Given the description of an element on the screen output the (x, y) to click on. 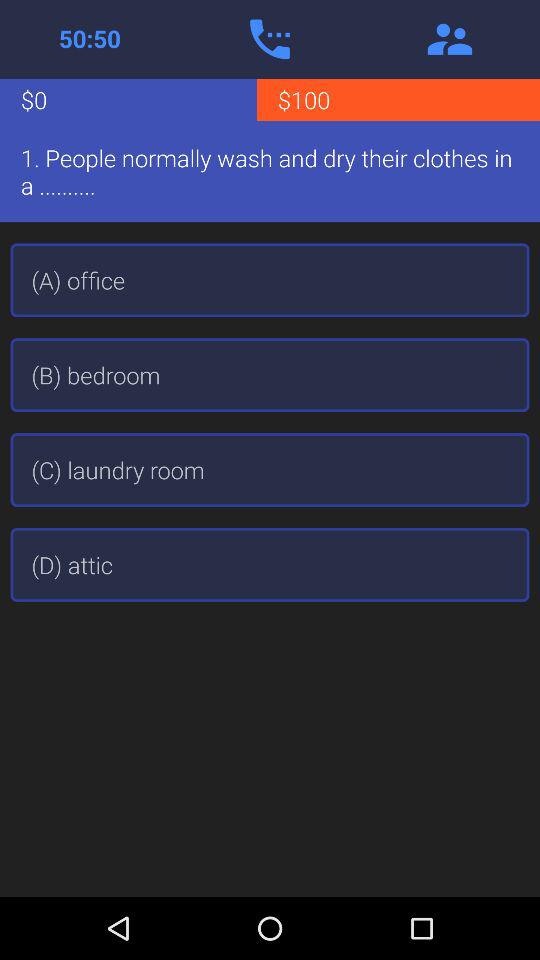
contacts (450, 39)
